Given the description of an element on the screen output the (x, y) to click on. 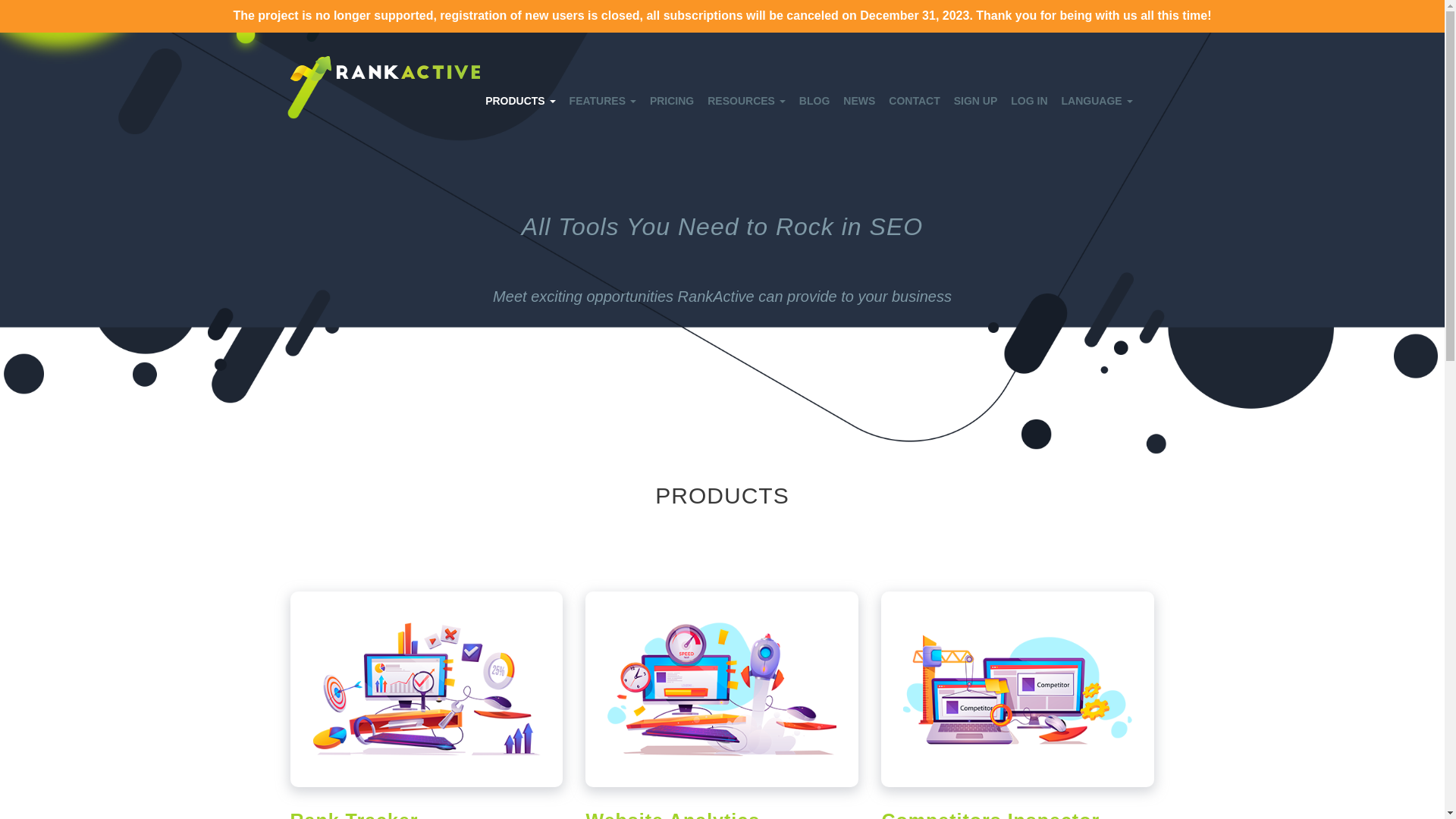
CONTACT (914, 99)
Resources (746, 99)
Pricing (671, 99)
FEATURES (602, 99)
SIGN UP (975, 99)
PRICING (671, 99)
Products (520, 99)
RESOURCES (746, 99)
Features (602, 99)
Competitors Inspector (989, 814)
BLOG (813, 99)
Website Analytics (672, 814)
NEWS (858, 99)
PRODUCTS (520, 99)
LOG IN (1029, 99)
